Given the description of an element on the screen output the (x, y) to click on. 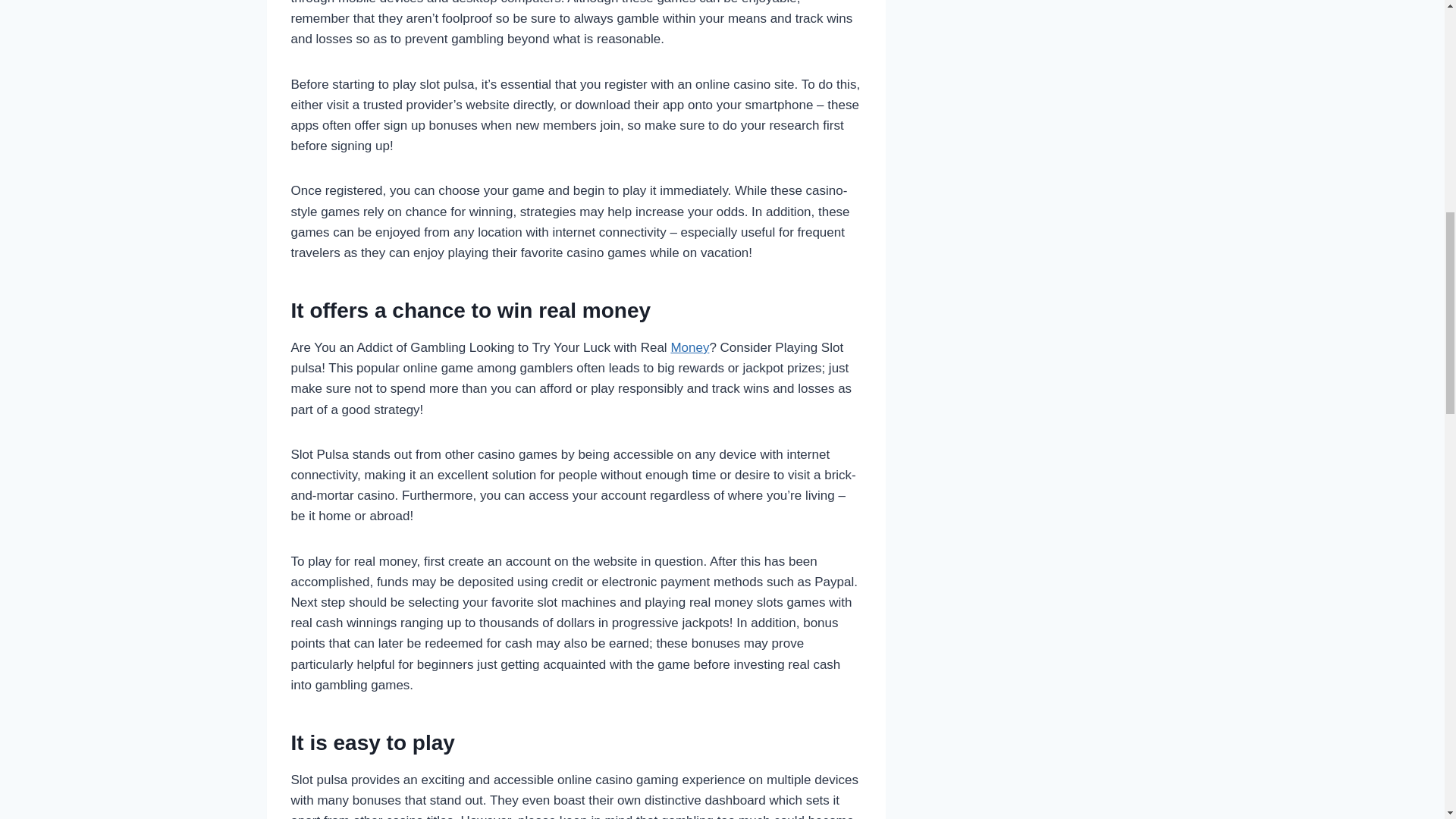
Money (689, 347)
